Given the description of an element on the screen output the (x, y) to click on. 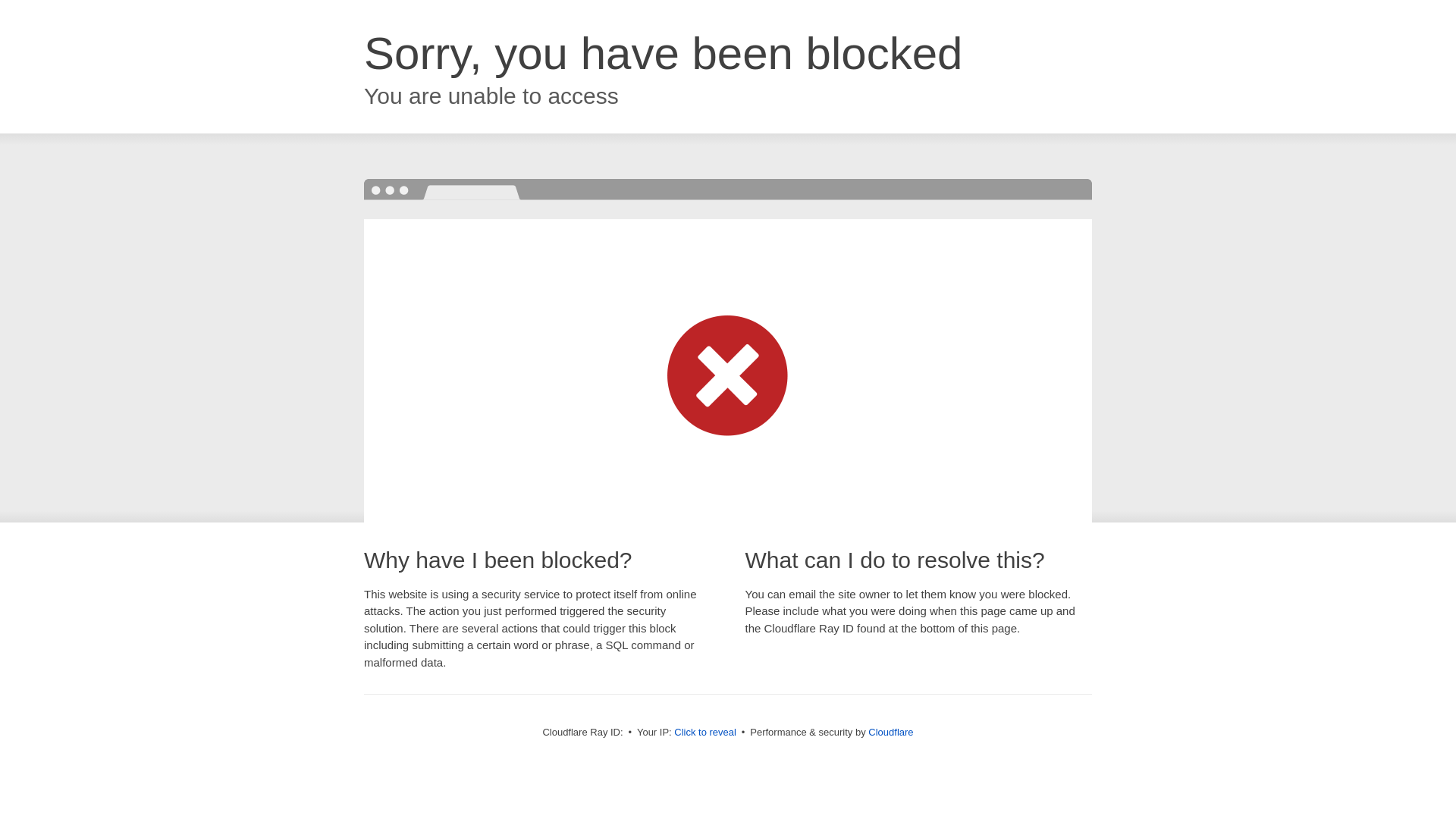
Click to reveal Element type: text (705, 732)
Cloudflare Element type: text (890, 731)
